Given the description of an element on the screen output the (x, y) to click on. 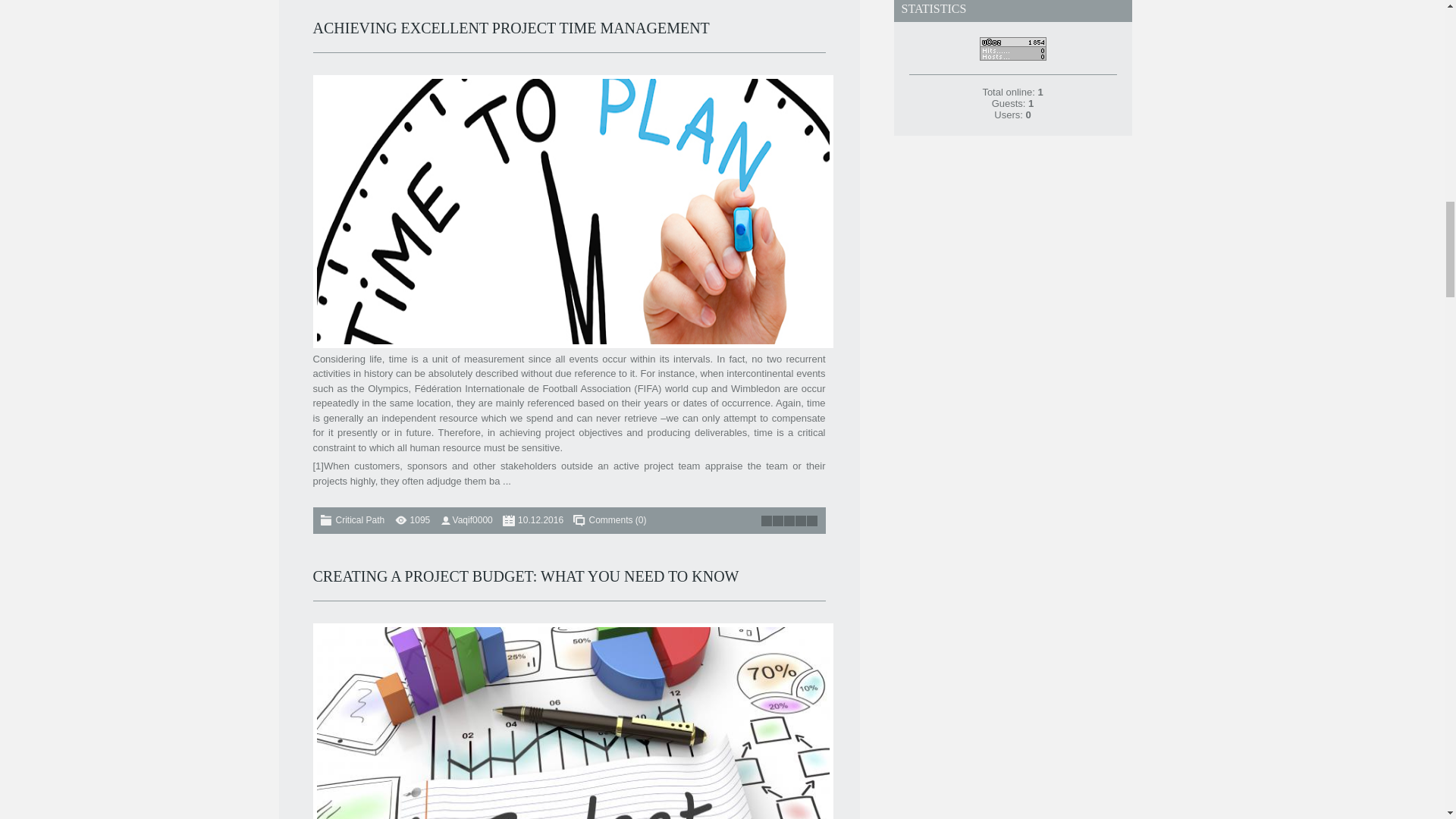
01:09 (540, 520)
ACHIEVING EXCELLENT PROJECT TIME MANAGEMENT (511, 27)
